Given the description of an element on the screen output the (x, y) to click on. 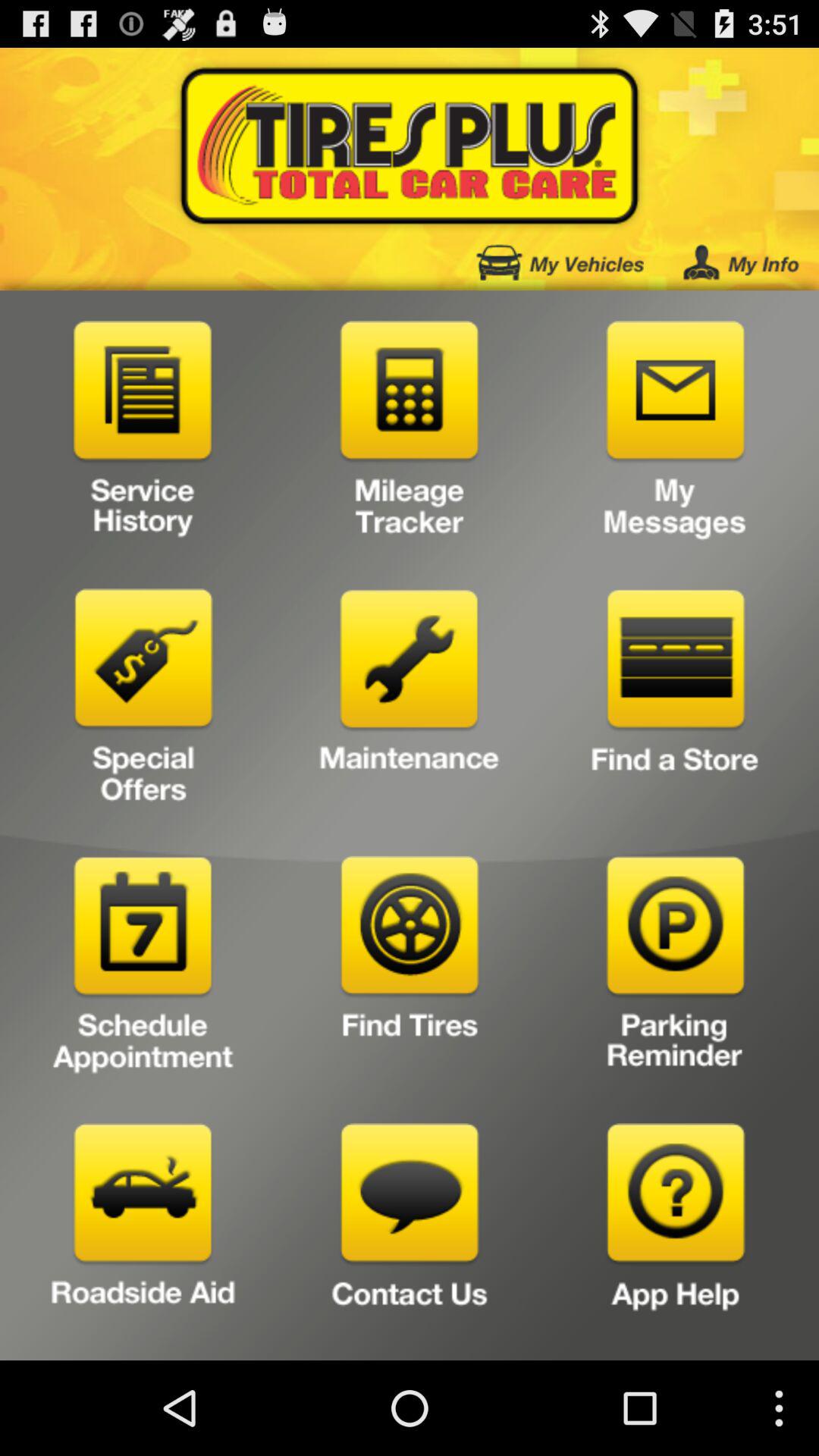
view maintenance records from tire plus about your vehicle (409, 701)
